Given the description of an element on the screen output the (x, y) to click on. 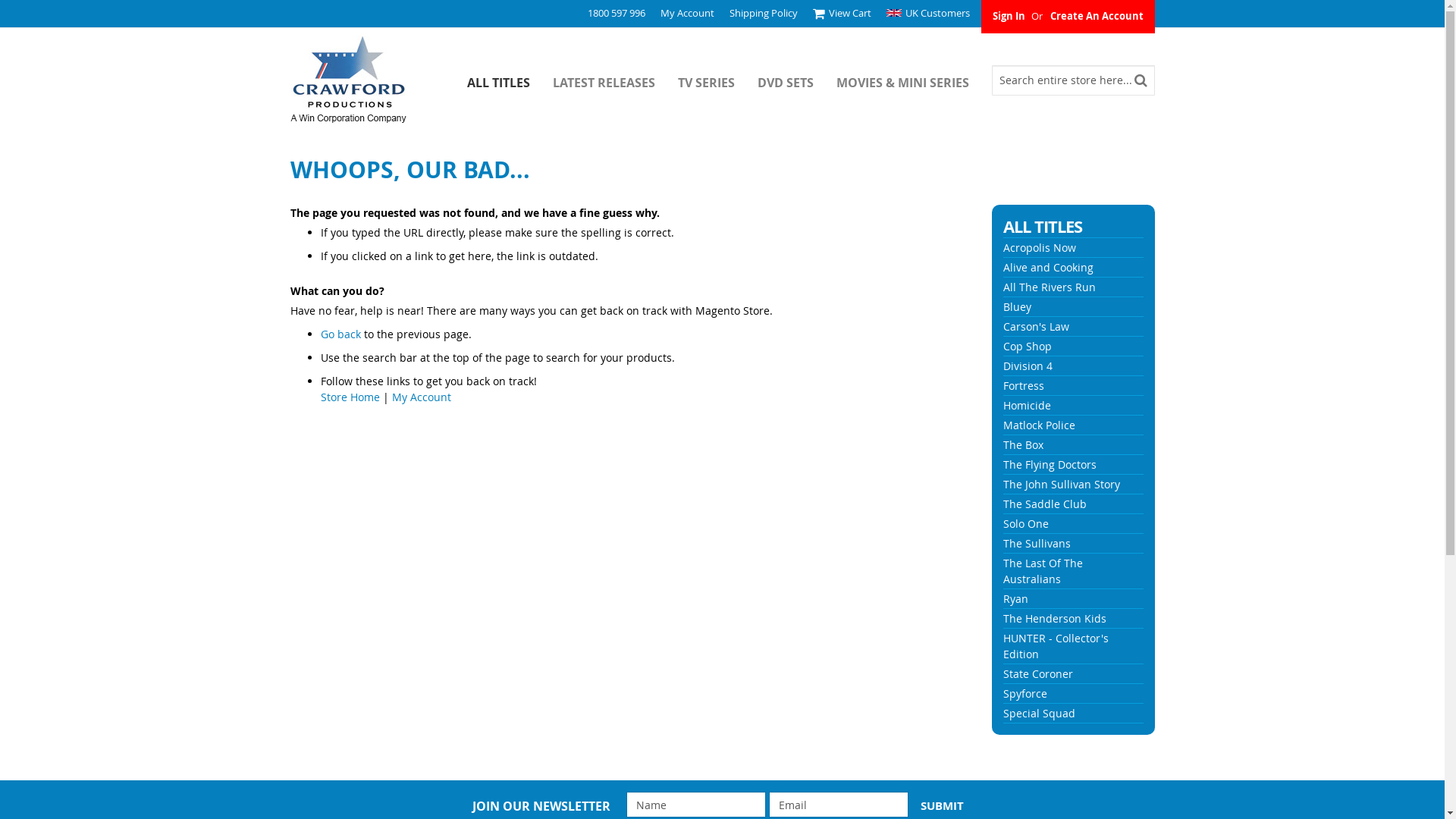
Bluey Element type: text (1017, 306)
Store Home Element type: text (349, 396)
DVD SETS Element type: text (795, 80)
Fortress Element type: text (1023, 385)
The Sullivans Element type: text (1036, 543)
The Henderson Kids Element type: text (1054, 618)
ALL TITLES Element type: text (509, 80)
Special Squad Element type: text (1039, 713)
MOVIES & MINI SERIES Element type: text (913, 80)
My Account Element type: text (420, 396)
Acropolis Now Element type: text (1039, 247)
Create An Account Element type: text (1095, 15)
The Box Element type: text (1023, 444)
LATEST RELEASES Element type: text (614, 80)
All The Rivers Run Element type: text (1049, 286)
Homicide Element type: text (1027, 405)
Sign In Element type: text (1007, 15)
View Cart Element type: text (841, 13)
UK Customers Element type: text (927, 12)
Spyforce Element type: text (1025, 693)
The Flying Doctors Element type: text (1049, 464)
My Account Element type: text (686, 12)
TV SERIES Element type: text (717, 80)
Carson's Law Element type: text (1036, 326)
Cop Shop Element type: text (1027, 345)
The Last Of The Australians Element type: text (1042, 570)
Alive and Cooking Element type: text (1048, 267)
Go back Element type: text (340, 333)
1800 597 996 Element type: text (615, 12)
Division 4 Element type: text (1027, 365)
State Coroner Element type: text (1038, 673)
The John Sullivan Story Element type: text (1061, 483)
Ryan Element type: text (1015, 598)
The Saddle Club Element type: text (1044, 503)
HUNTER - Collector's Edition Element type: text (1055, 645)
Search Element type: text (1140, 80)
Shipping Policy Element type: text (763, 12)
Solo One Element type: text (1025, 523)
Matlock Police Element type: text (1039, 424)
